Given the description of an element on the screen output the (x, y) to click on. 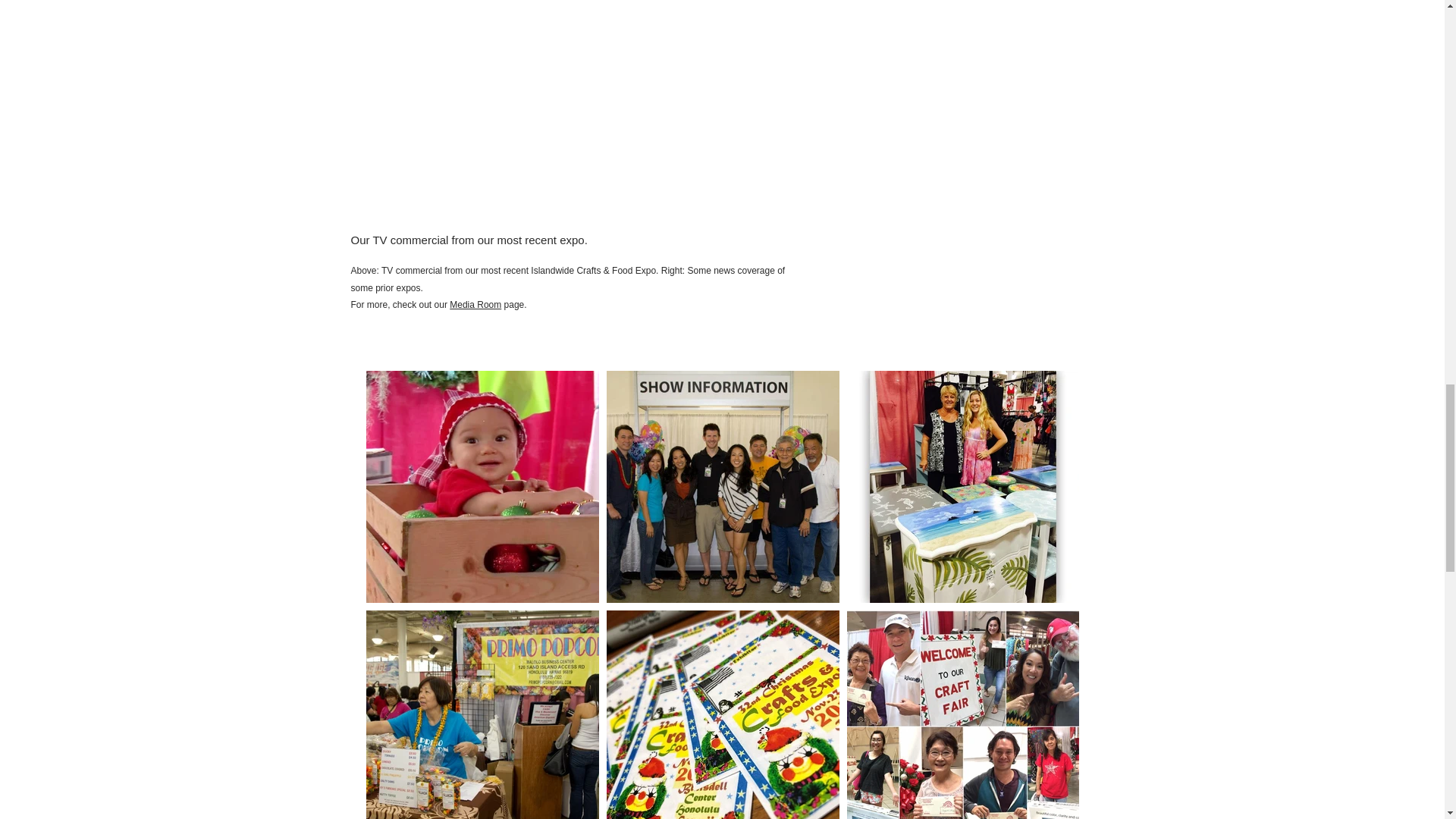
Media Room (474, 304)
